Given the description of an element on the screen output the (x, y) to click on. 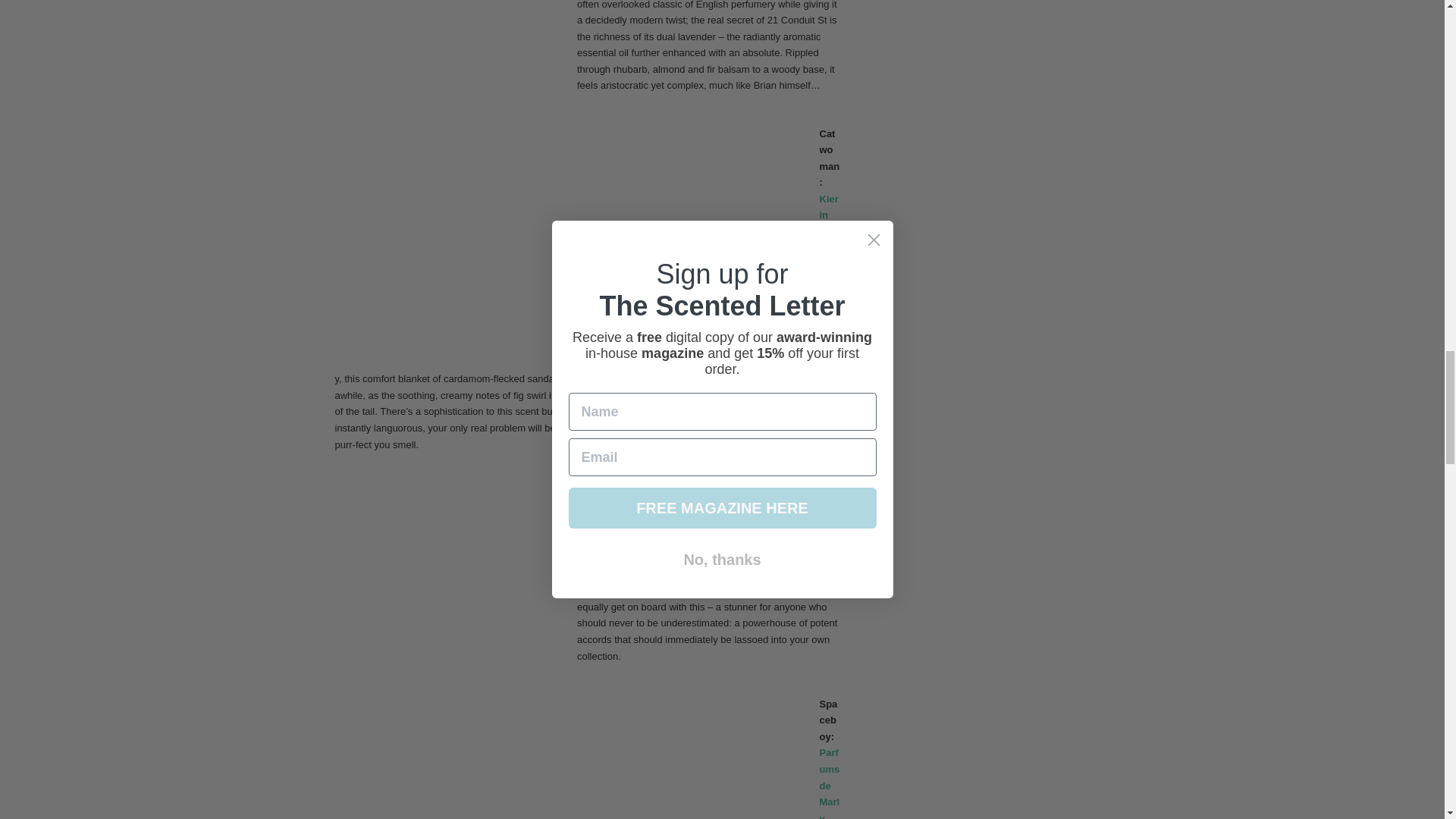
Catwoman, as depicted by artist Stanley Lau (690, 239)
